Given the description of an element on the screen output the (x, y) to click on. 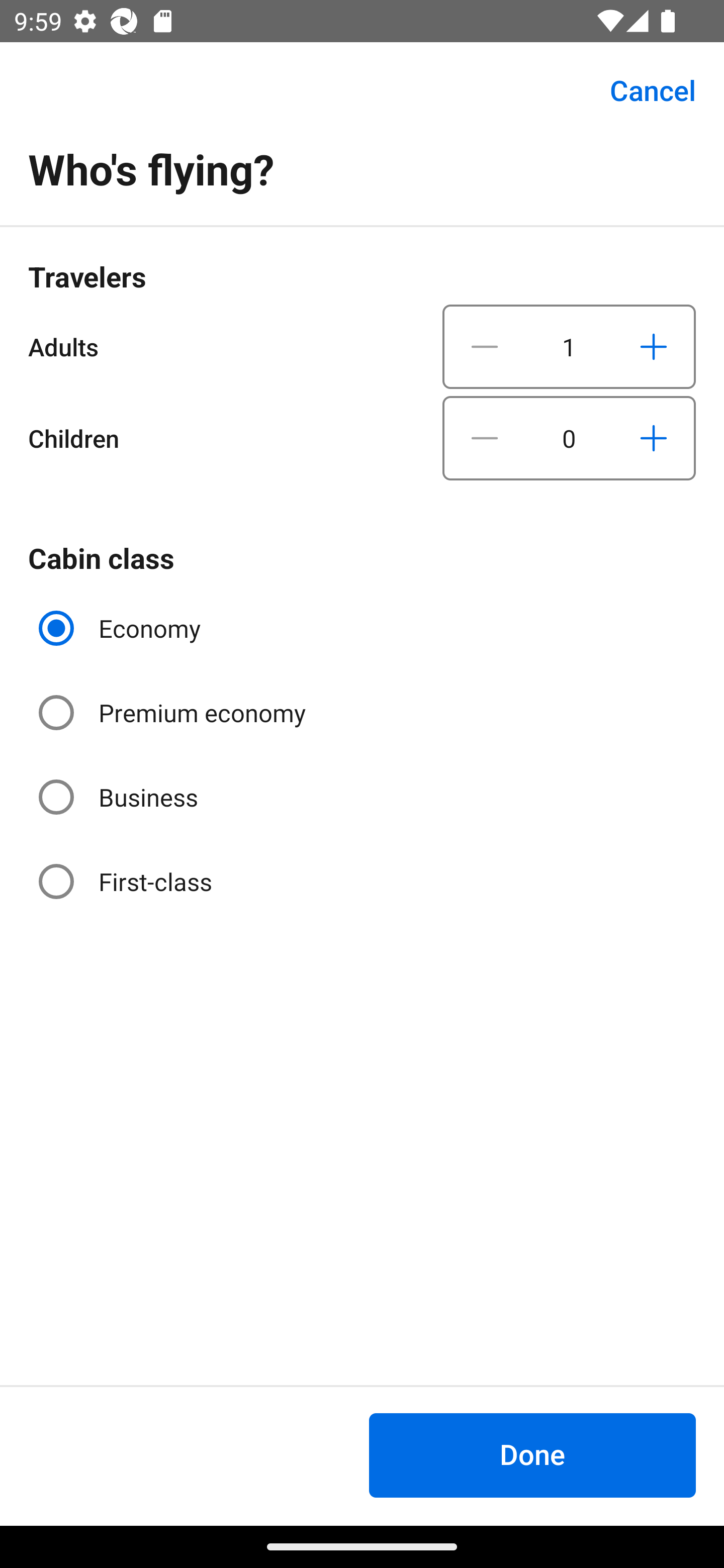
Cancel (641, 90)
Decrease (484, 346)
Increase (653, 346)
Decrease (484, 437)
Increase (653, 437)
Economy (121, 628)
Premium economy (174, 712)
Business (120, 796)
First-class (126, 880)
Done (532, 1454)
